Given the description of an element on the screen output the (x, y) to click on. 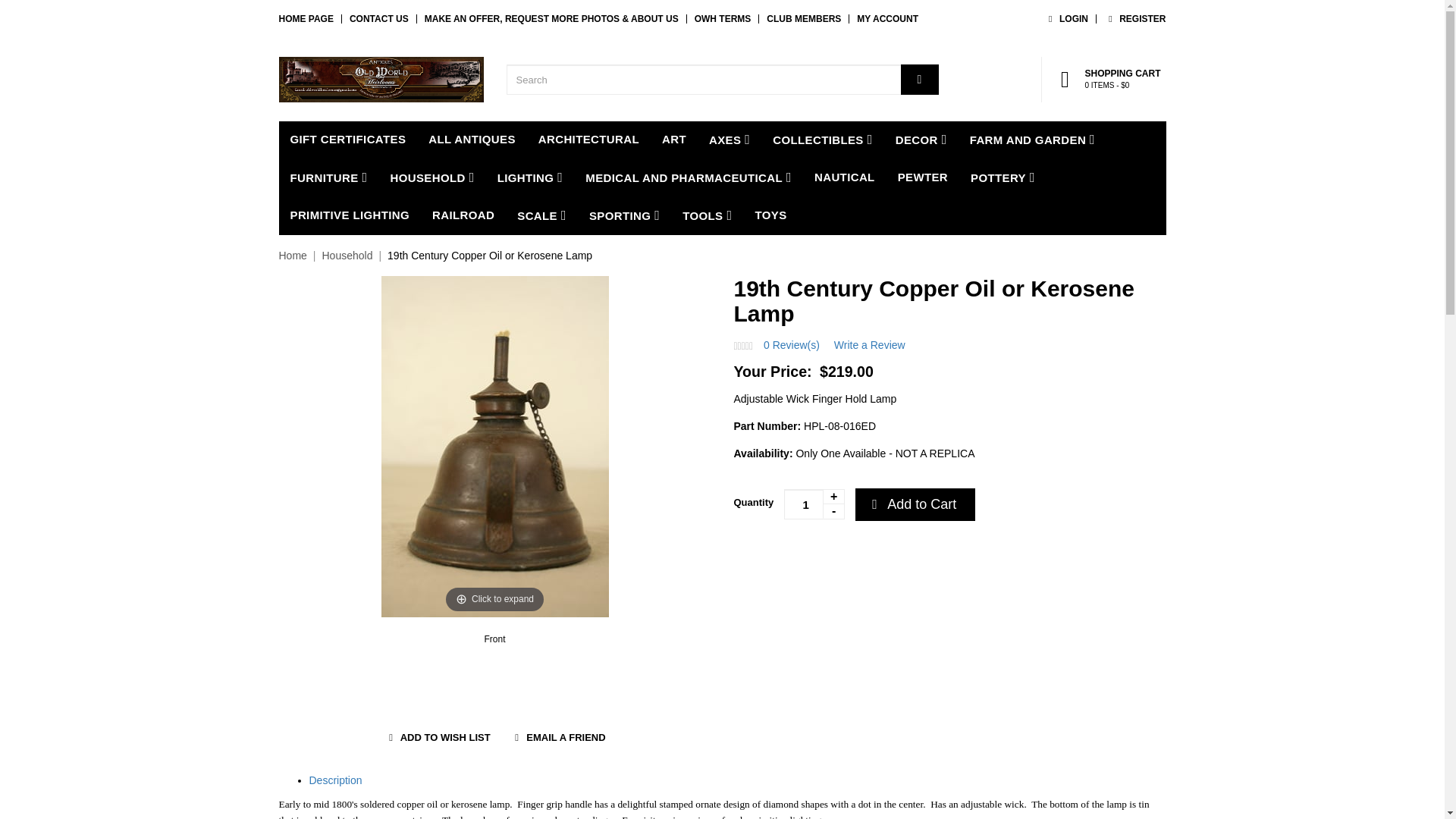
OWH TERMS (722, 18)
COLLECTIBLES (822, 139)
HOME PAGE (306, 18)
AXES (729, 139)
ALL ANTIQUES (471, 139)
GIFT CERTIFICATES (1134, 18)
Front  (348, 139)
MY ACCOUNT (495, 638)
1 (887, 18)
